Given the description of an element on the screen output the (x, y) to click on. 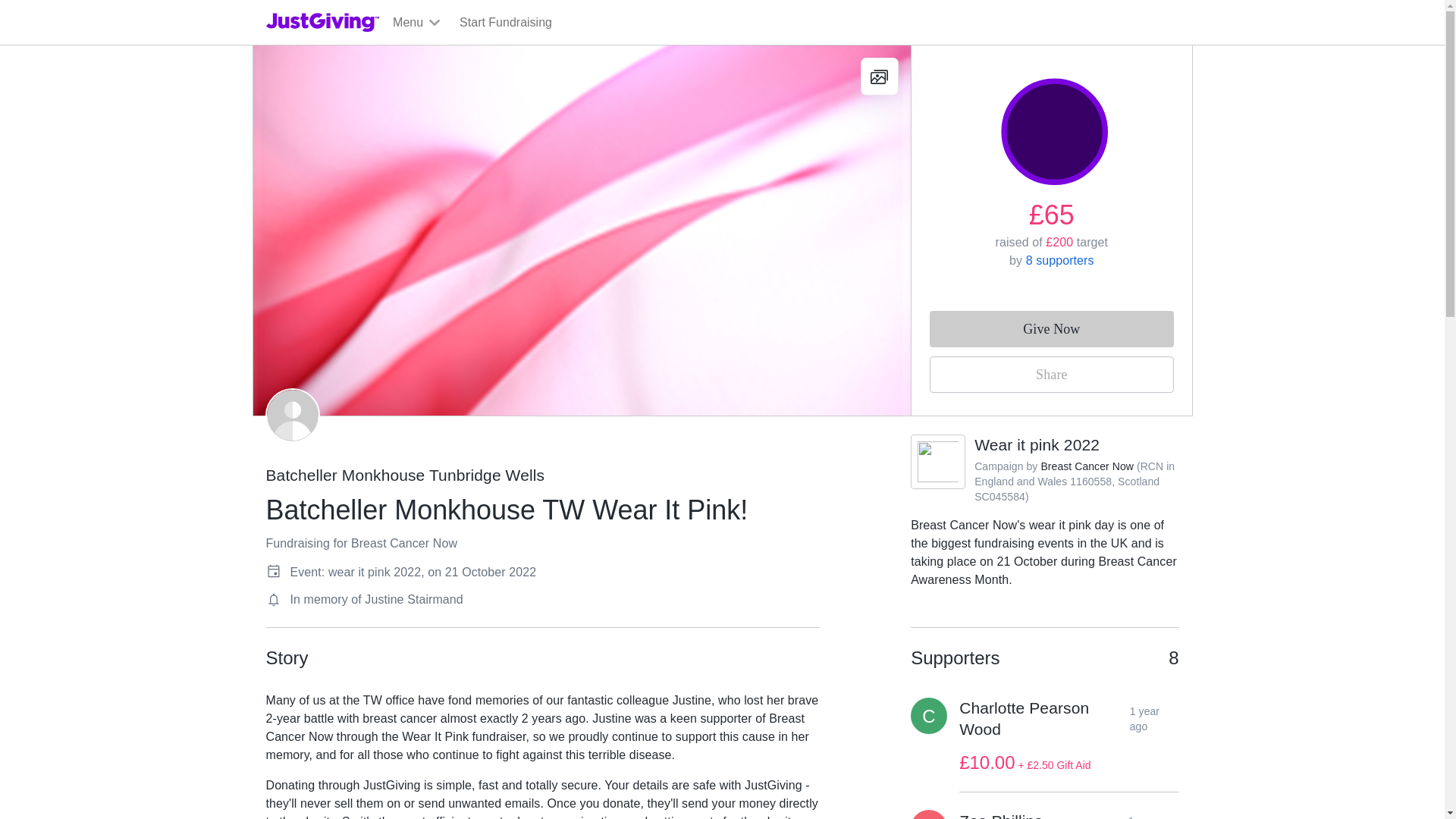
8 supporters (1060, 259)
Search (919, 57)
Menu (416, 22)
Share (1051, 374)
Breast Cancer Now (1087, 466)
Wear it pink 2022 (1036, 444)
Start Fundraising (505, 22)
